Given the description of an element on the screen output the (x, y) to click on. 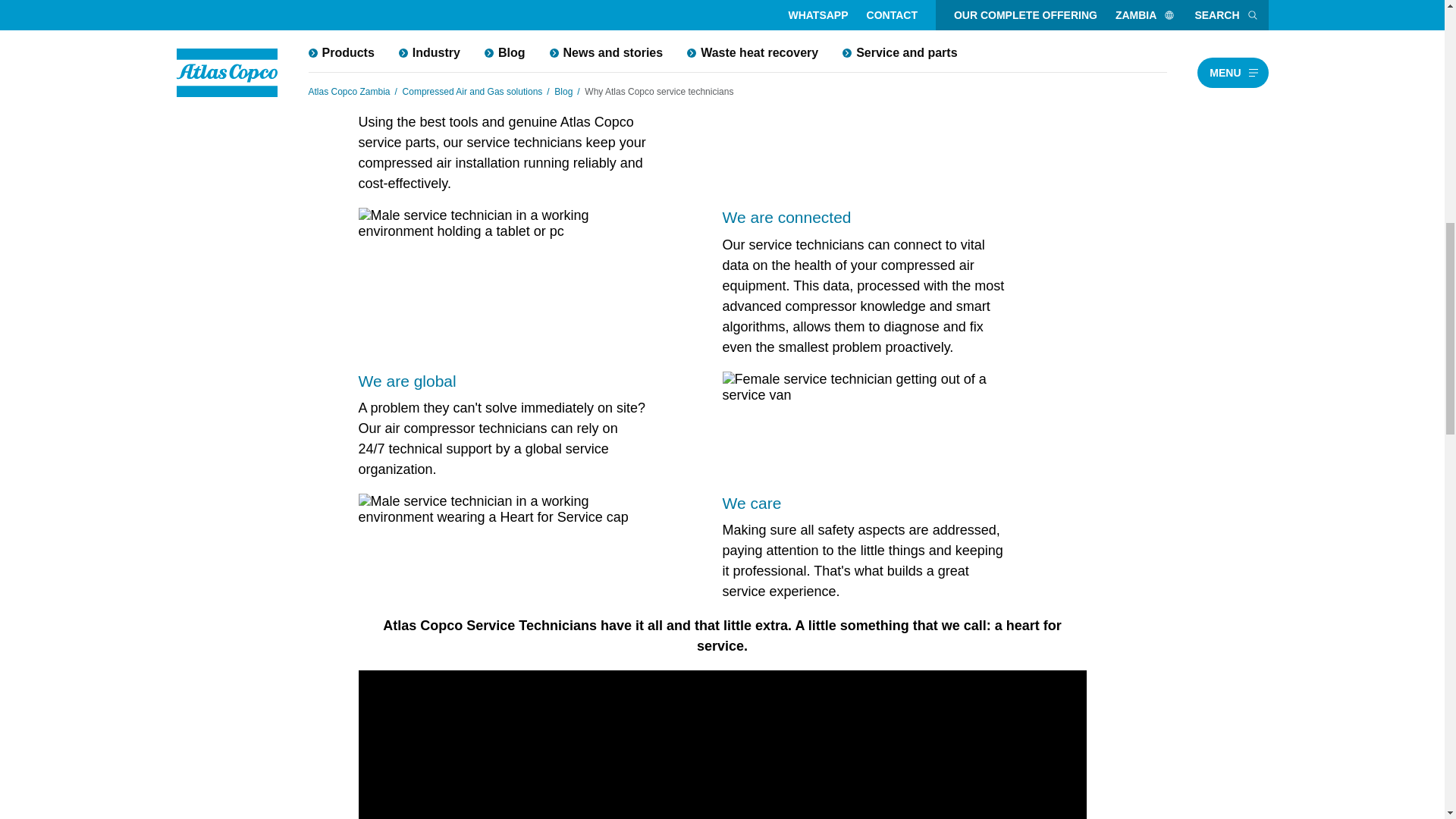
explainer icon (269, 388)
